Given the description of an element on the screen output the (x, y) to click on. 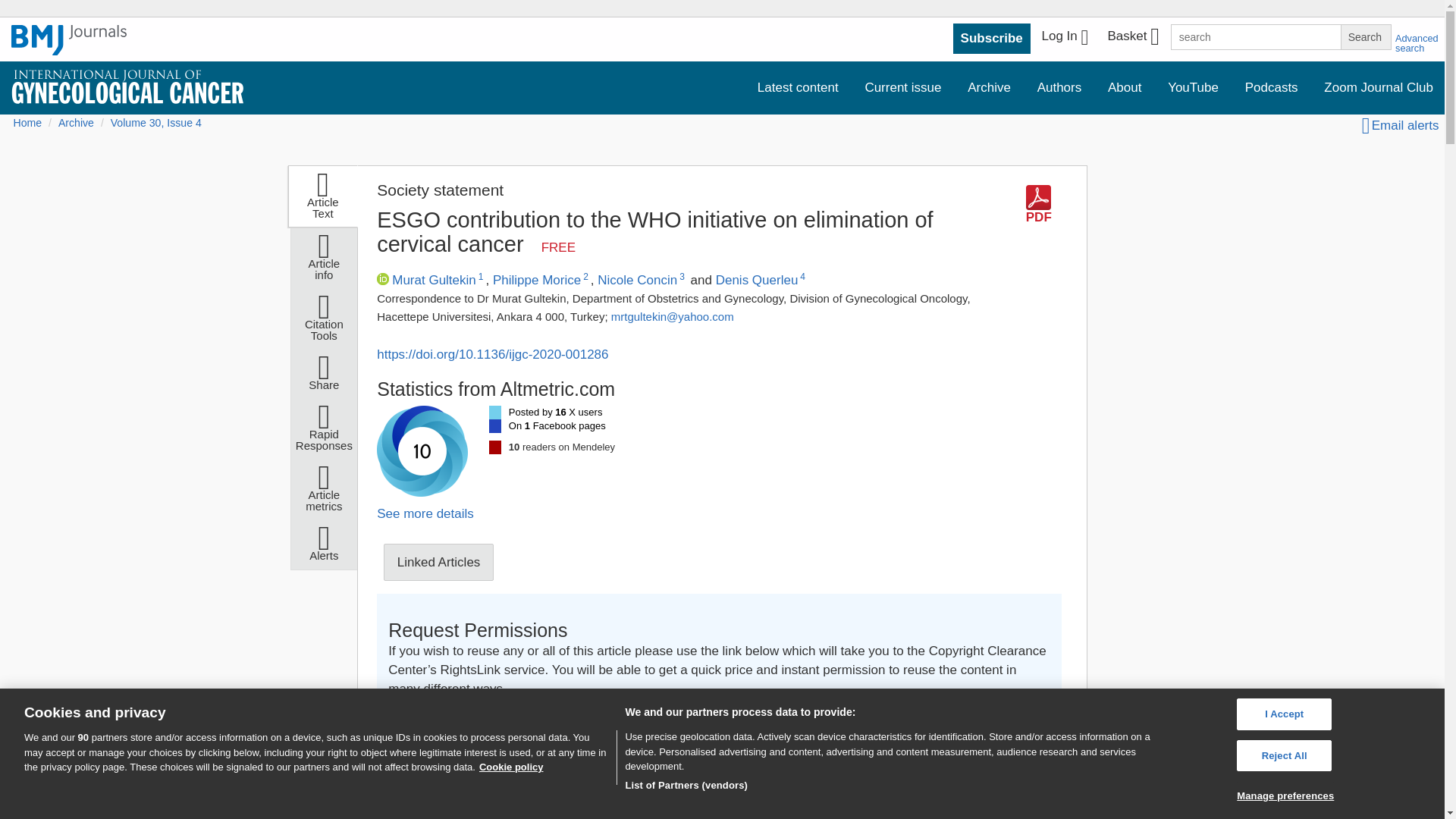
Subscribe (991, 38)
Archive (989, 87)
Current issue (902, 87)
Search (1364, 36)
Authors (1059, 87)
Log In (1064, 38)
Latest content (797, 87)
YouTube (1193, 87)
Basket (1132, 38)
